Given the description of an element on the screen output the (x, y) to click on. 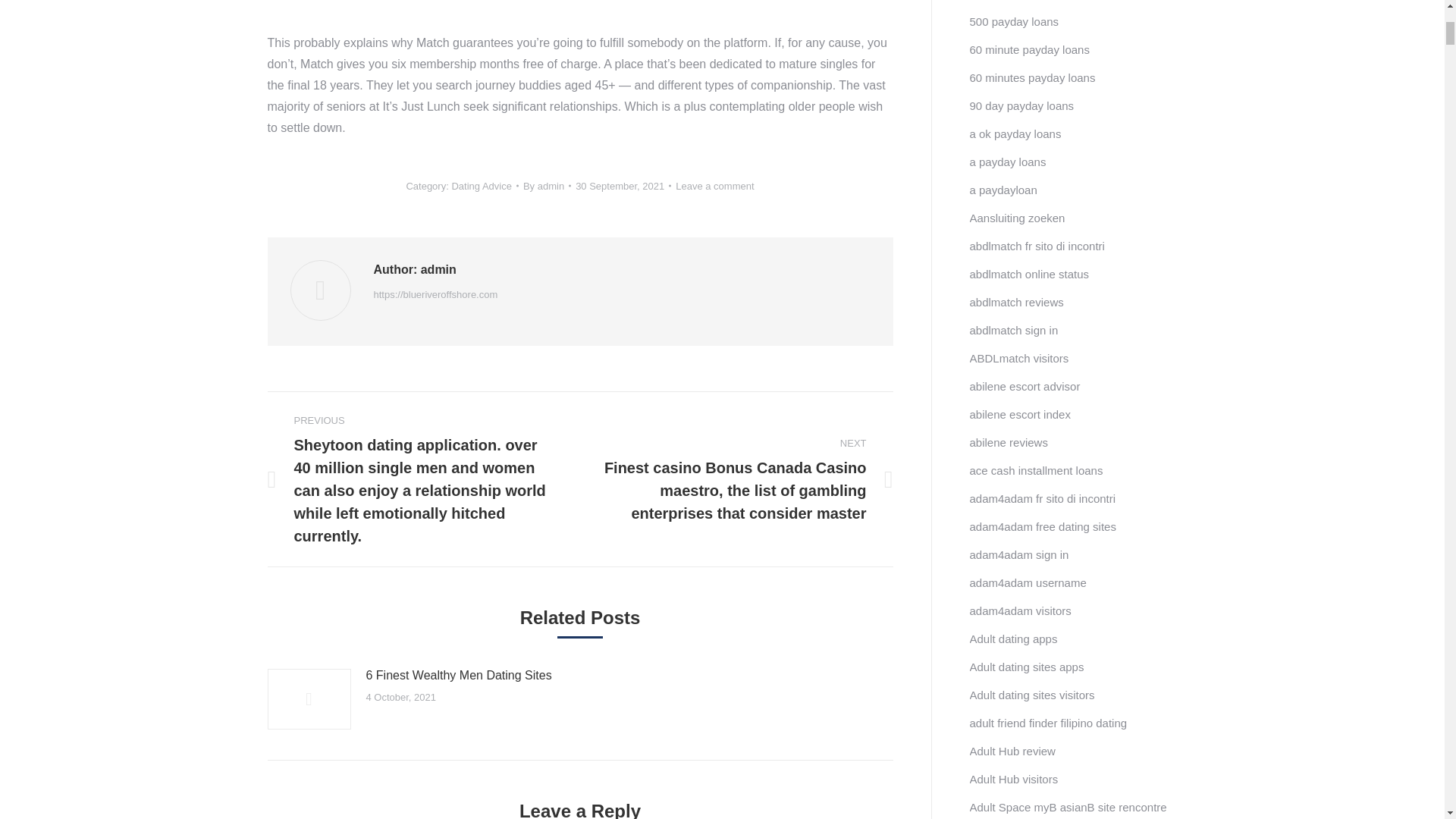
View all posts by admin (546, 185)
6 Finest Wealthy Men Dating Sites (458, 675)
12:13 pm (623, 185)
30 September, 2021 (623, 185)
Dating Advice (481, 185)
Leave a comment (714, 185)
By admin (546, 185)
